Given the description of an element on the screen output the (x, y) to click on. 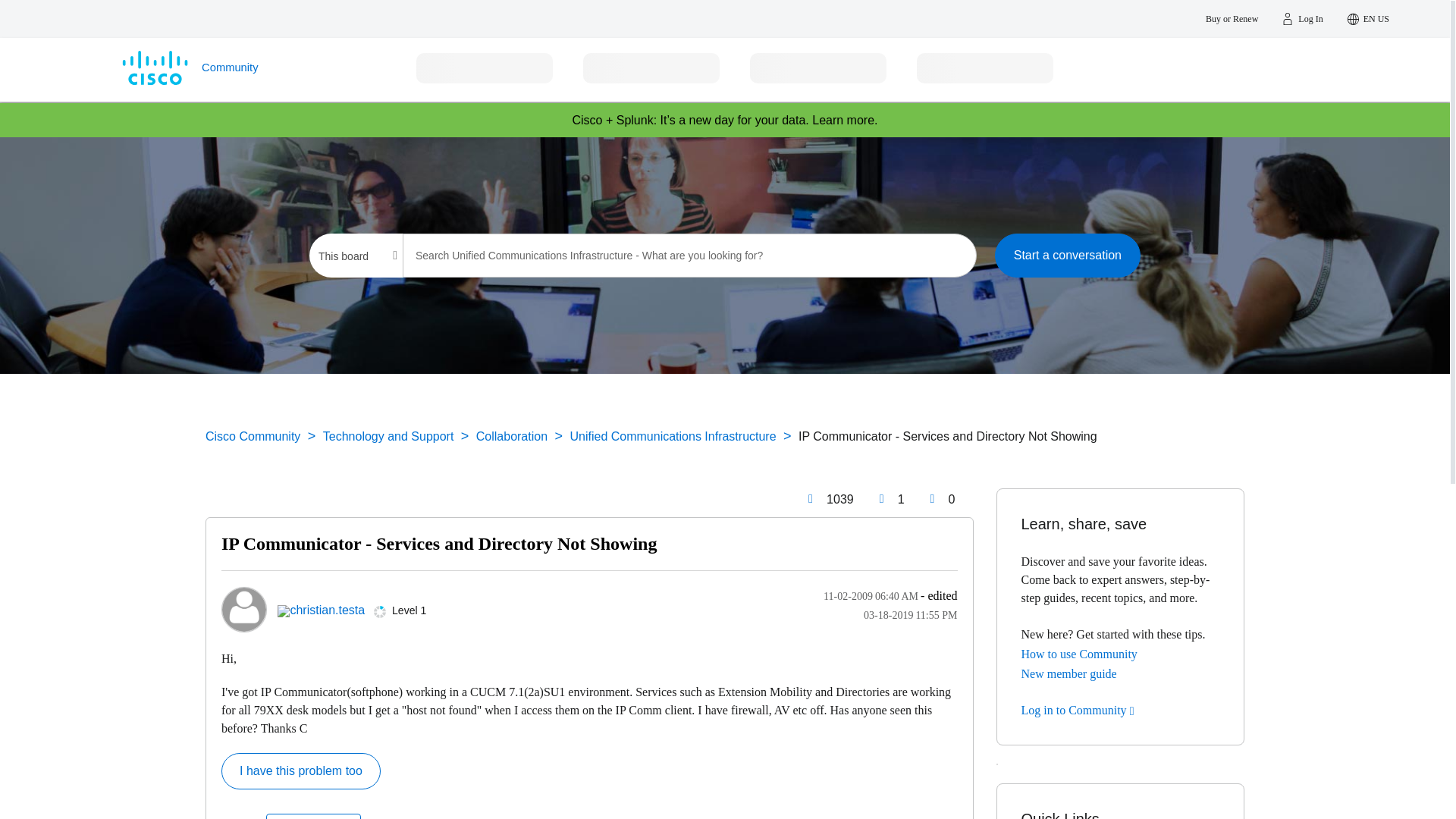
Cisco Community (252, 436)
Cisco Community (246, 69)
Community (246, 69)
Search (947, 254)
Search (947, 254)
Collaboration (511, 436)
Search Granularity (357, 256)
Buy or Renew (1231, 18)
Start a conversation (1067, 255)
Technology and Support (388, 436)
Unified Communications Infrastructure (672, 436)
Tip: Phrases may provide better results (689, 255)
Search (947, 254)
